Given the description of an element on the screen output the (x, y) to click on. 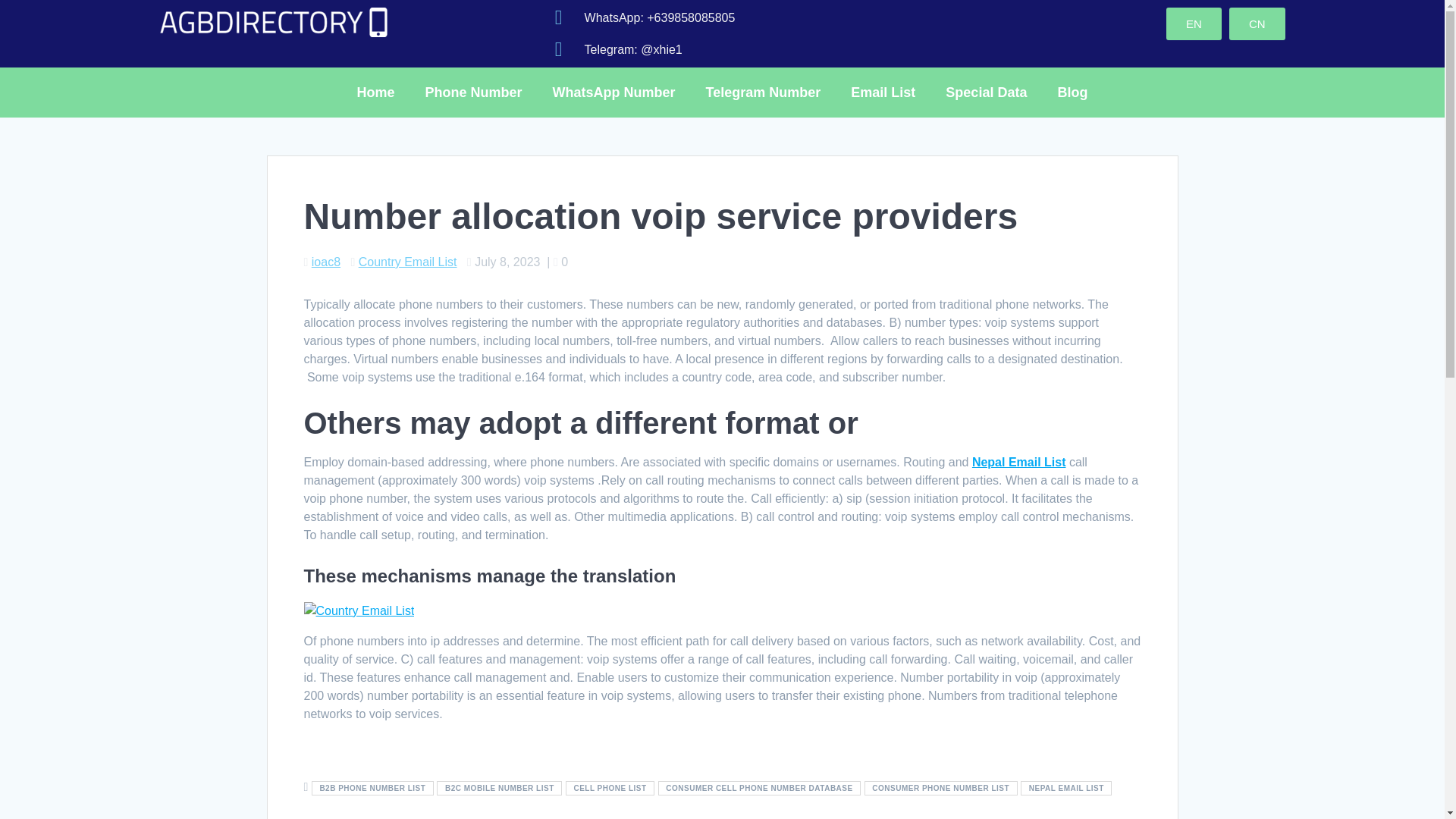
CELL PHONE LIST (609, 788)
B2C MOBILE NUMBER LIST (499, 788)
NEPAL EMAIL LIST (1066, 788)
Nepal Email List (1018, 461)
CONSUMER CELL PHONE NUMBER DATABASE (759, 788)
Blog (1072, 92)
Home (376, 92)
Special Data (986, 92)
Email List (882, 92)
CONSUMER PHONE NUMBER LIST (940, 788)
EN (1193, 23)
ioac8 (325, 261)
Country Email List (407, 261)
B2B PHONE NUMBER LIST (372, 788)
WhatsApp Number (613, 92)
